Given the description of an element on the screen output the (x, y) to click on. 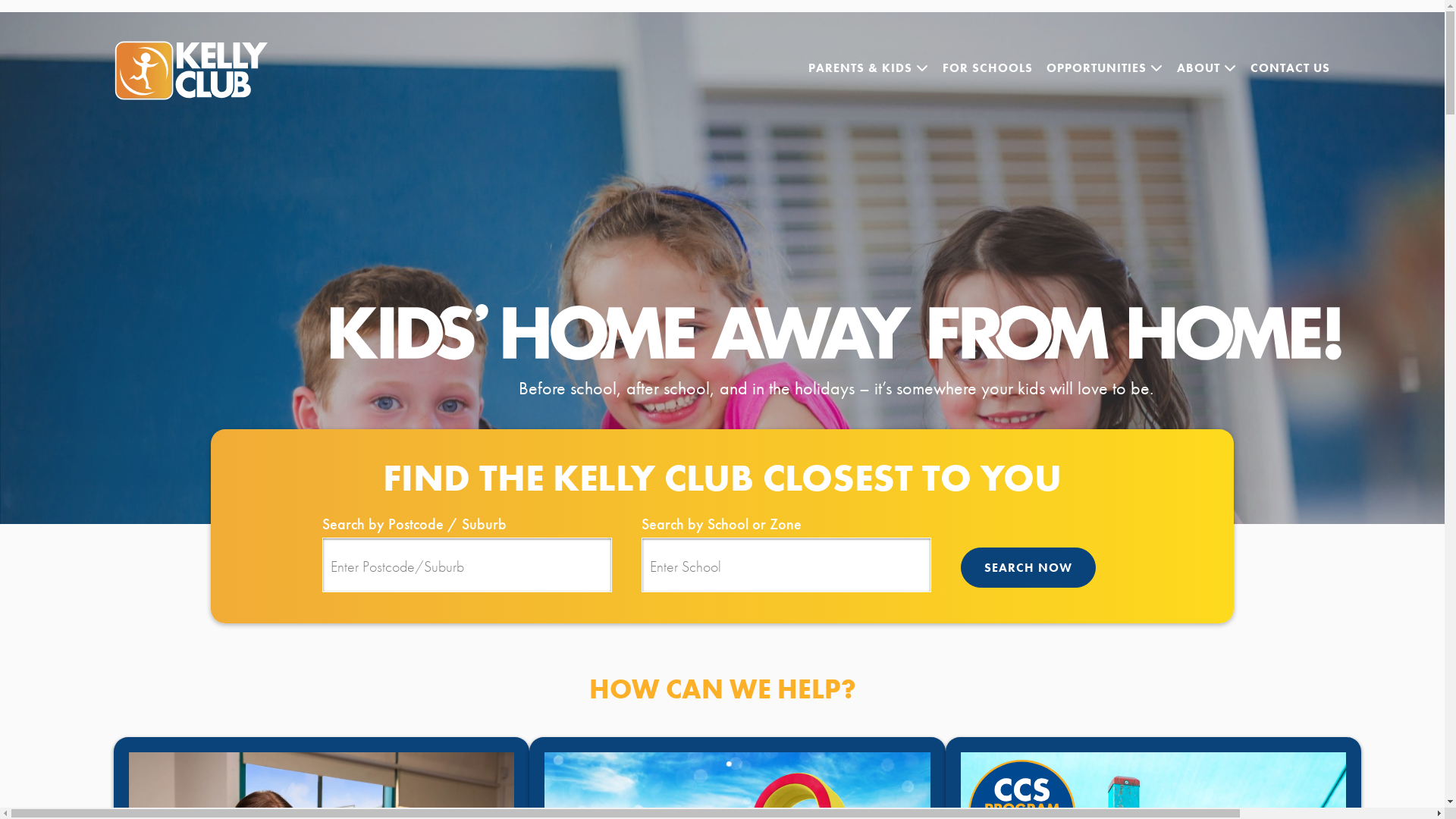
ABOUT Element type: text (1206, 67)
OPPORTUNITIES Element type: text (1104, 67)
search now Element type: text (1027, 567)
Kelly Club OSHC Element type: hover (206, 70)
FOR SCHOOLS Element type: text (987, 67)
PARENTS & KIDS Element type: text (868, 67)
CONTACT US Element type: text (1290, 67)
